Given the description of an element on the screen output the (x, y) to click on. 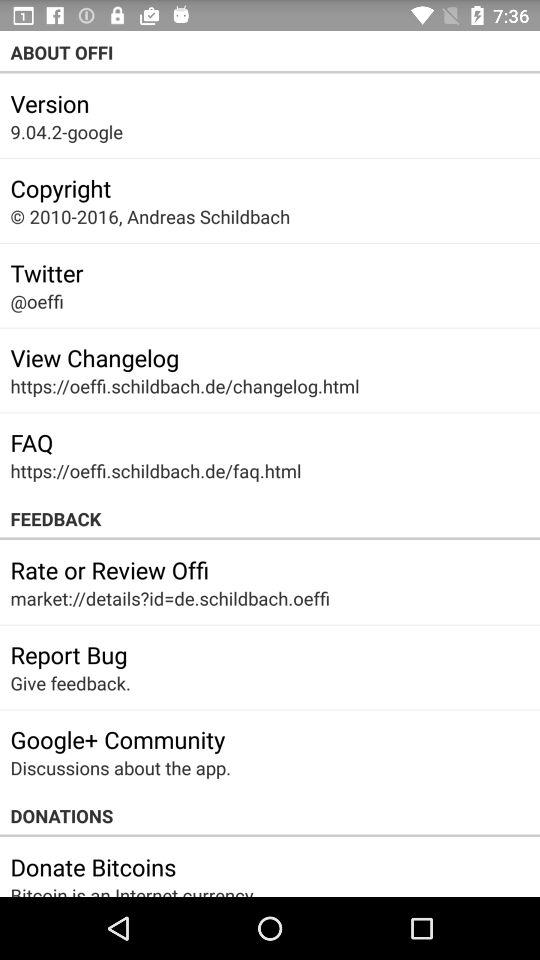
turn off app below the google+ community app (120, 767)
